Given the description of an element on the screen output the (x, y) to click on. 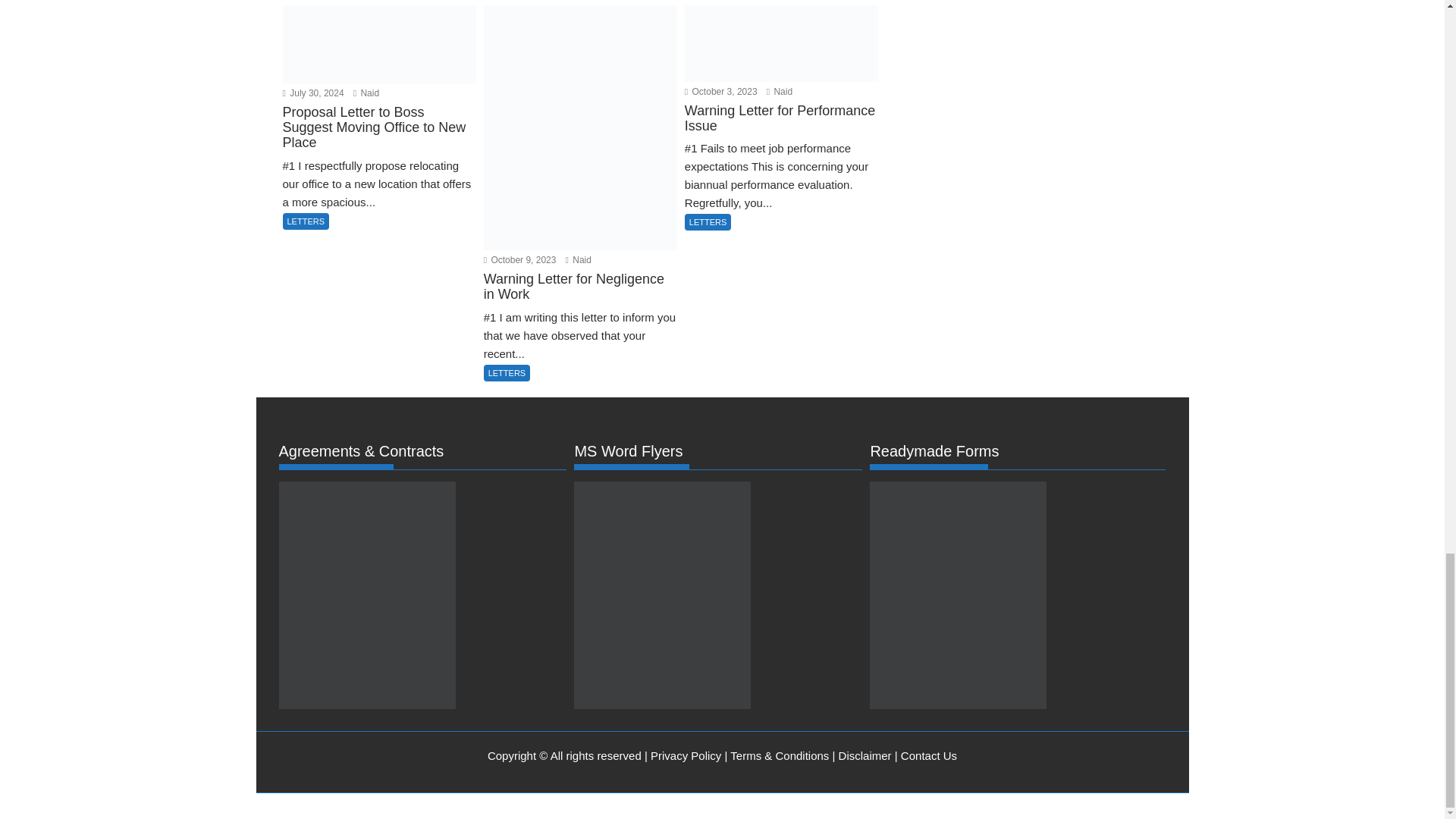
October 3, 2023 (720, 117)
Naid (779, 117)
Warning Letter for Negligence in Work (580, 323)
LETTERS (708, 247)
Naid (578, 285)
LETTERS (305, 247)
October 9, 2023 (519, 285)
LETTERS (507, 398)
Naid (365, 118)
Naid (365, 118)
